Given the description of an element on the screen output the (x, y) to click on. 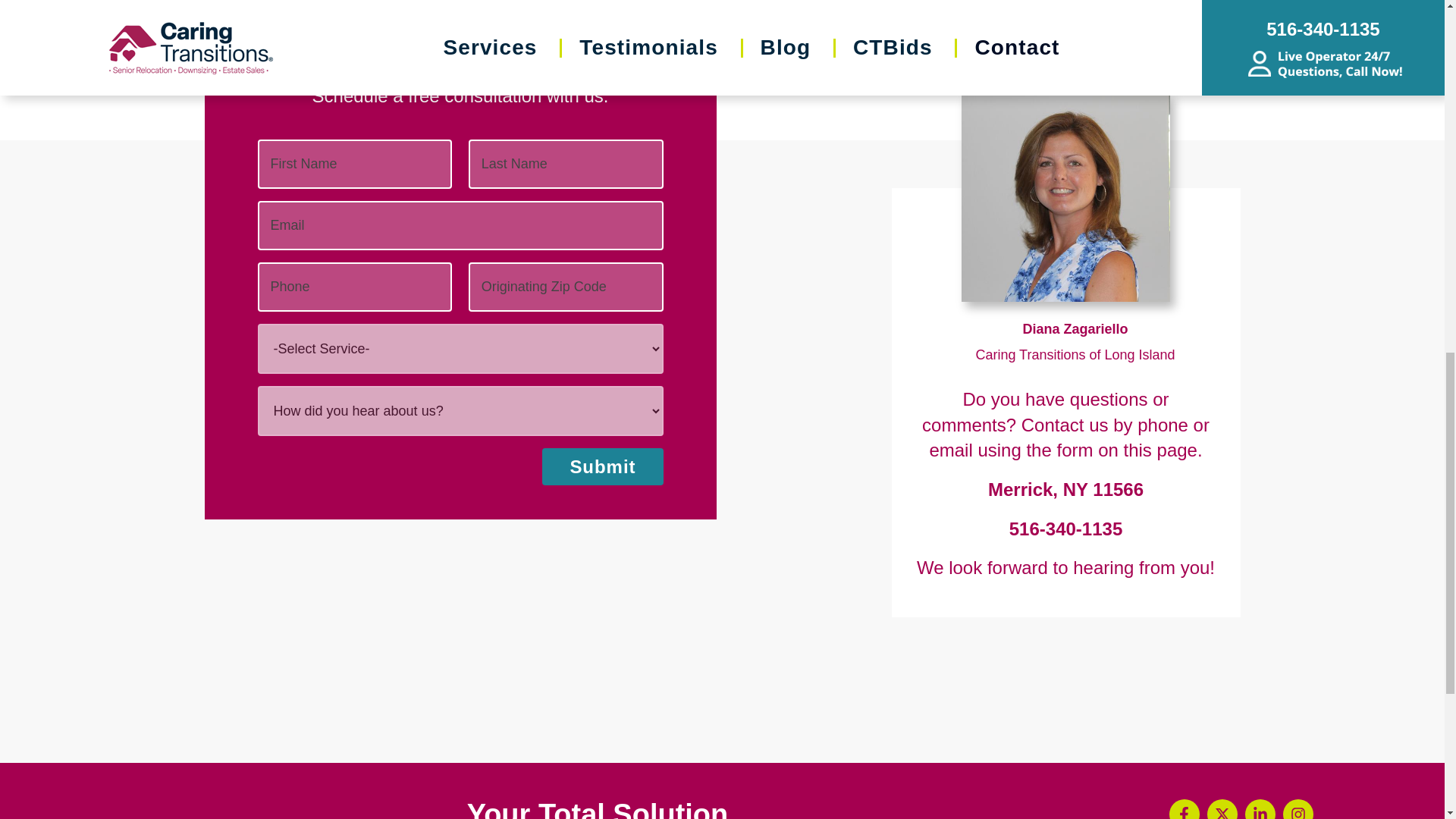
Twitter (1222, 809)
Submit (601, 466)
Instagram (1297, 809)
LinkedIn (1259, 809)
Facebook (1184, 809)
516-340-1135 (1065, 528)
